Given the description of an element on the screen output the (x, y) to click on. 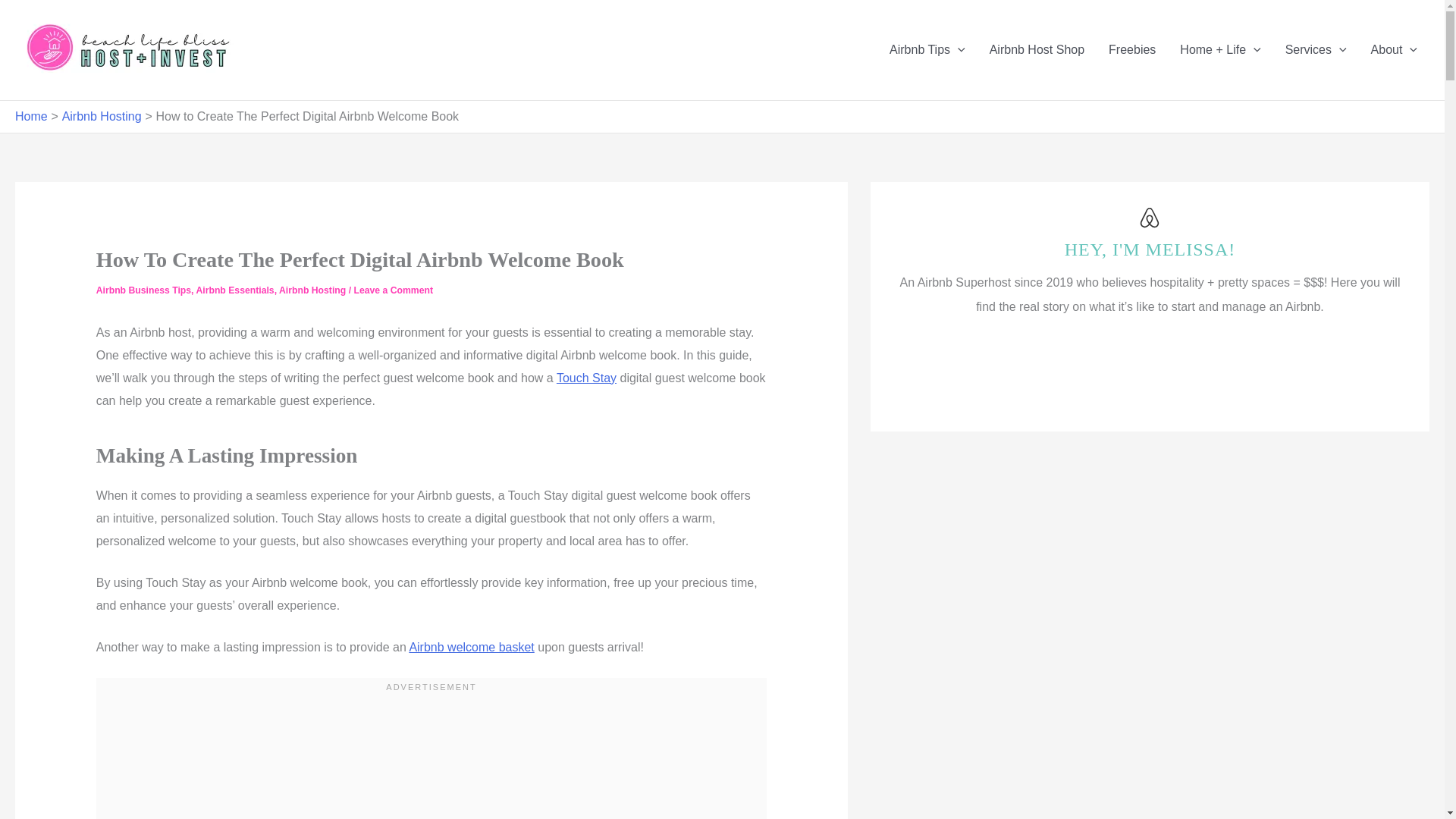
About (1393, 49)
Freebies (1131, 49)
Airbnb Tips (926, 49)
Airbnb Host Shop (1036, 49)
Services (1315, 49)
